Given the description of an element on the screen output the (x, y) to click on. 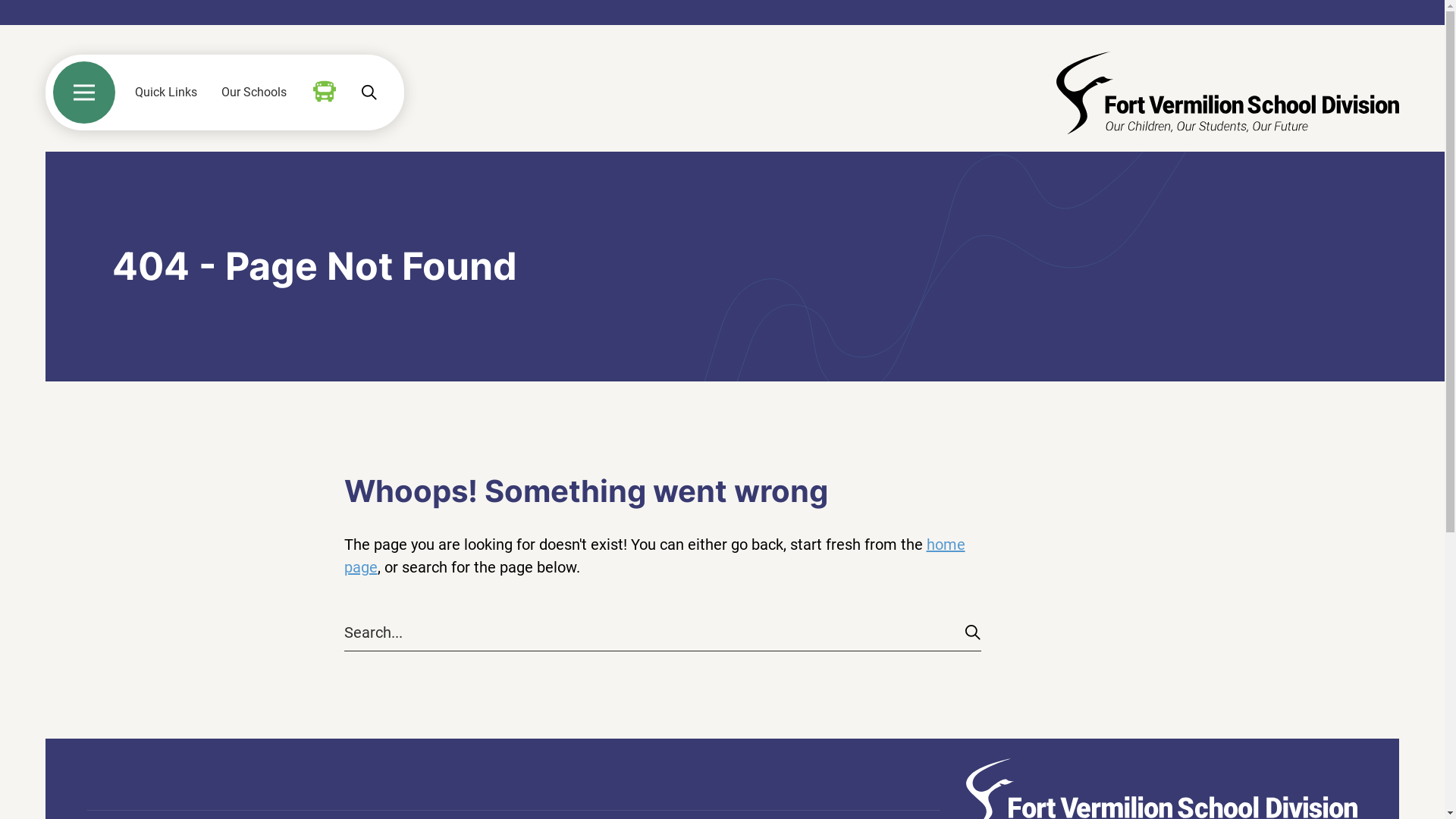
Menu Element type: text (84, 92)
Bus Status Element type: hover (324, 91)
Our Schools Element type: text (253, 92)
Fort Vermilion School Division Element type: hover (1227, 92)
Quick Links Element type: text (165, 92)
home page Element type: text (654, 555)
Toggle Search Element type: text (369, 92)
